Given the description of an element on the screen output the (x, y) to click on. 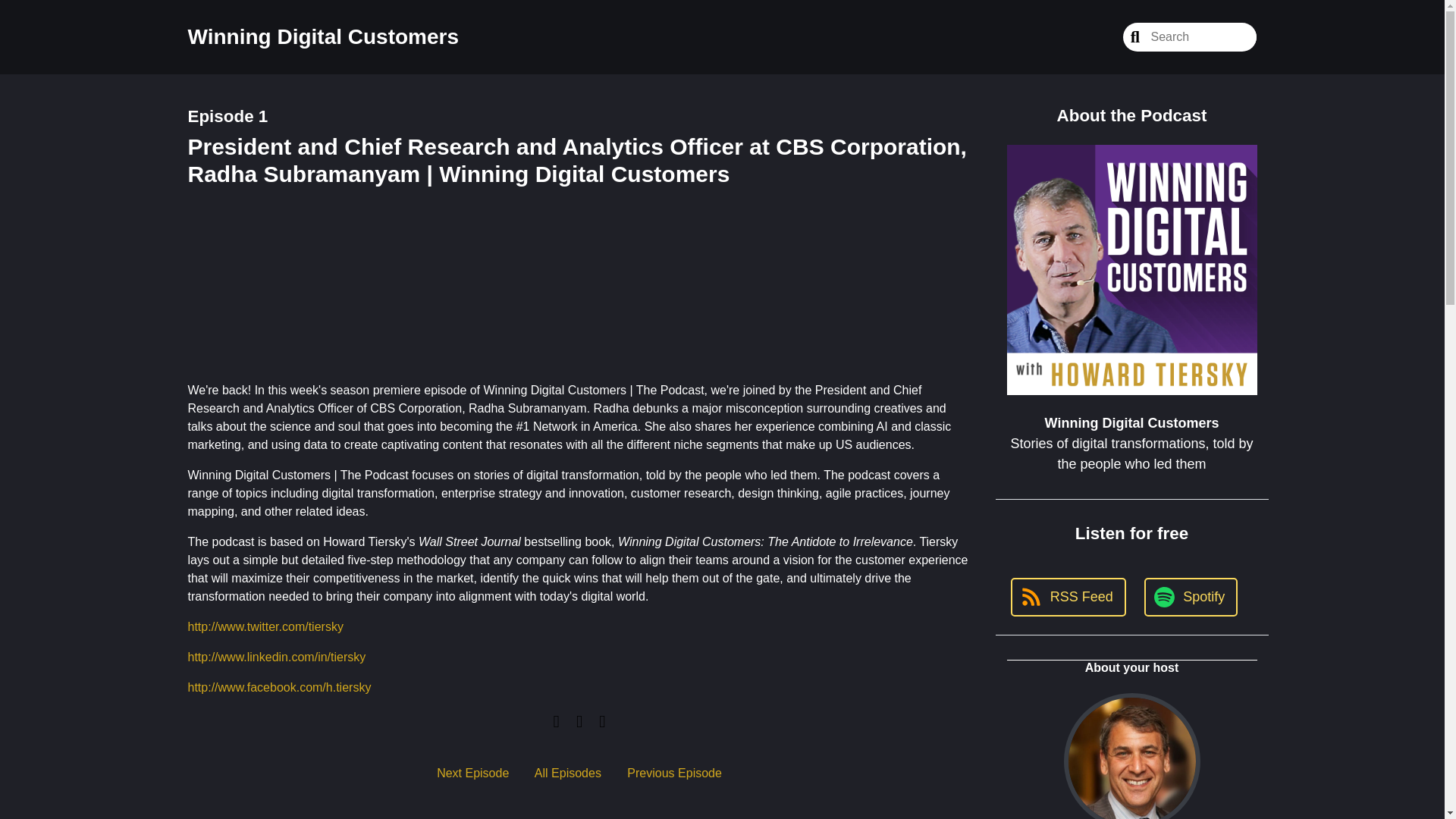
RSS Feed (1067, 597)
Next Episode (472, 772)
All Episodes (567, 772)
Spotify (1190, 597)
Previous Episode (674, 772)
